Given the description of an element on the screen output the (x, y) to click on. 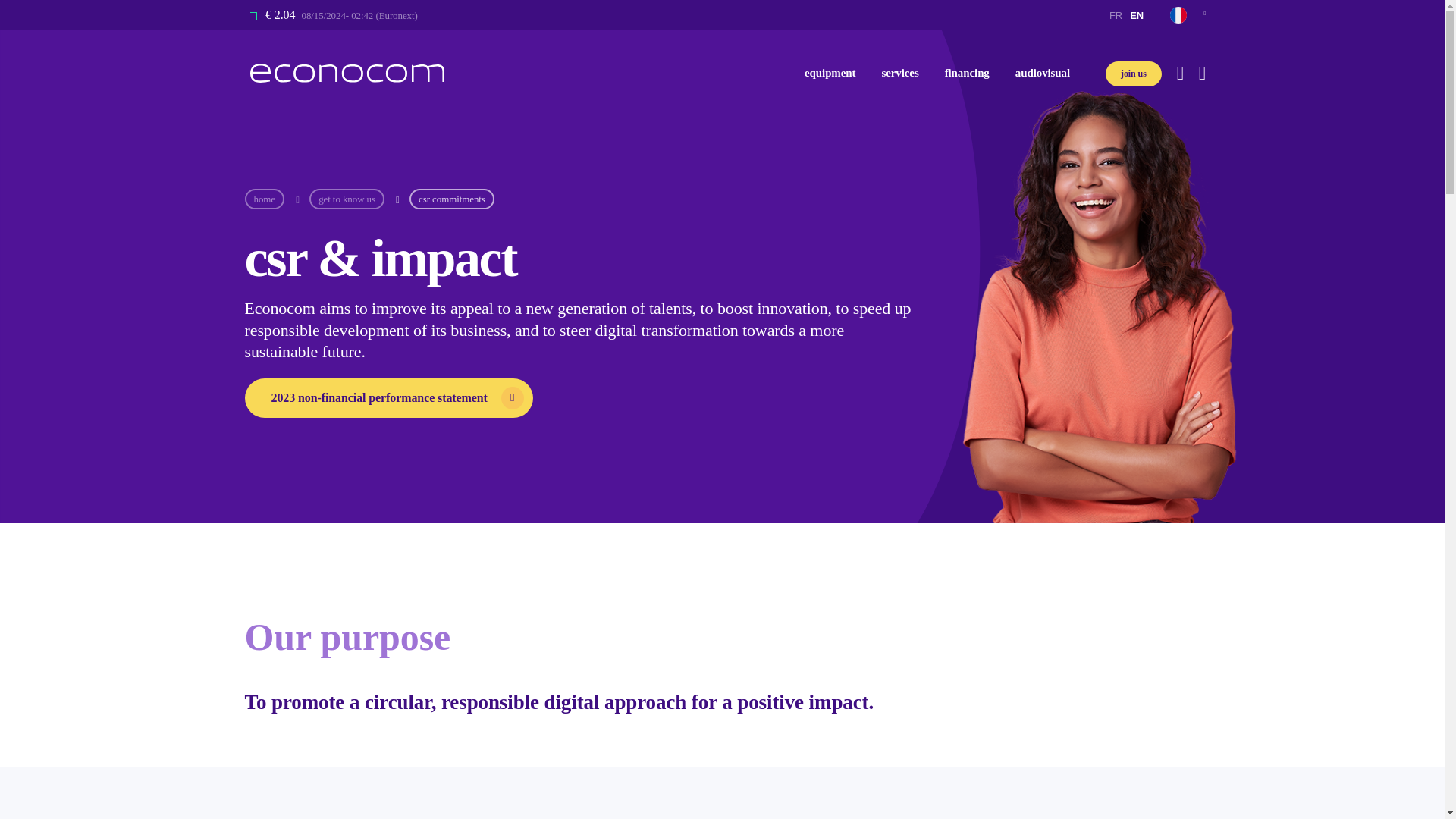
services (899, 72)
audiovisual (1043, 72)
financing (967, 72)
join us (1133, 73)
equipment (829, 72)
Econocom (347, 72)
ENGLISH (1136, 15)
